Given the description of an element on the screen output the (x, y) to click on. 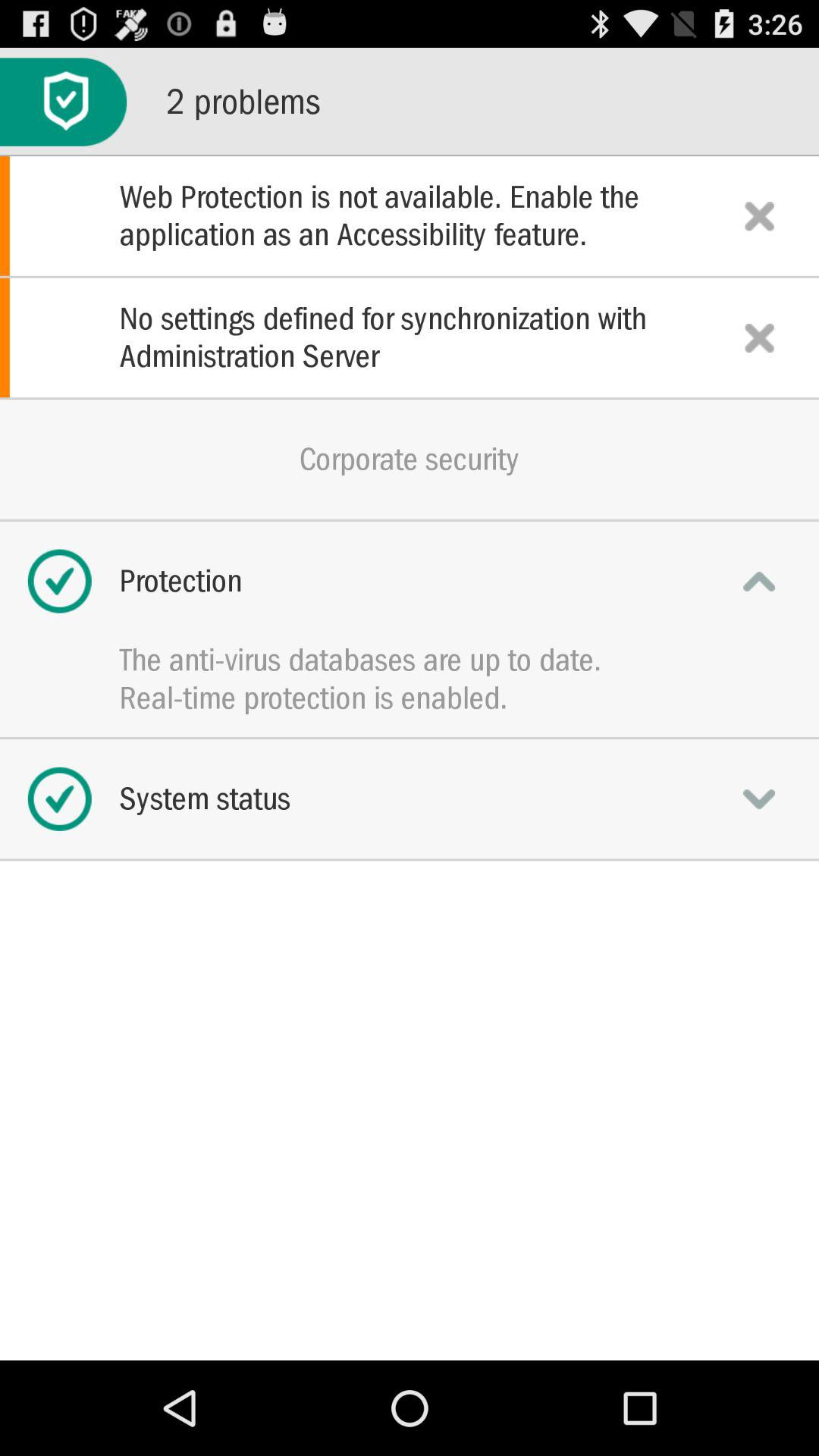
press the app below the anti virus icon (409, 698)
